Given the description of an element on the screen output the (x, y) to click on. 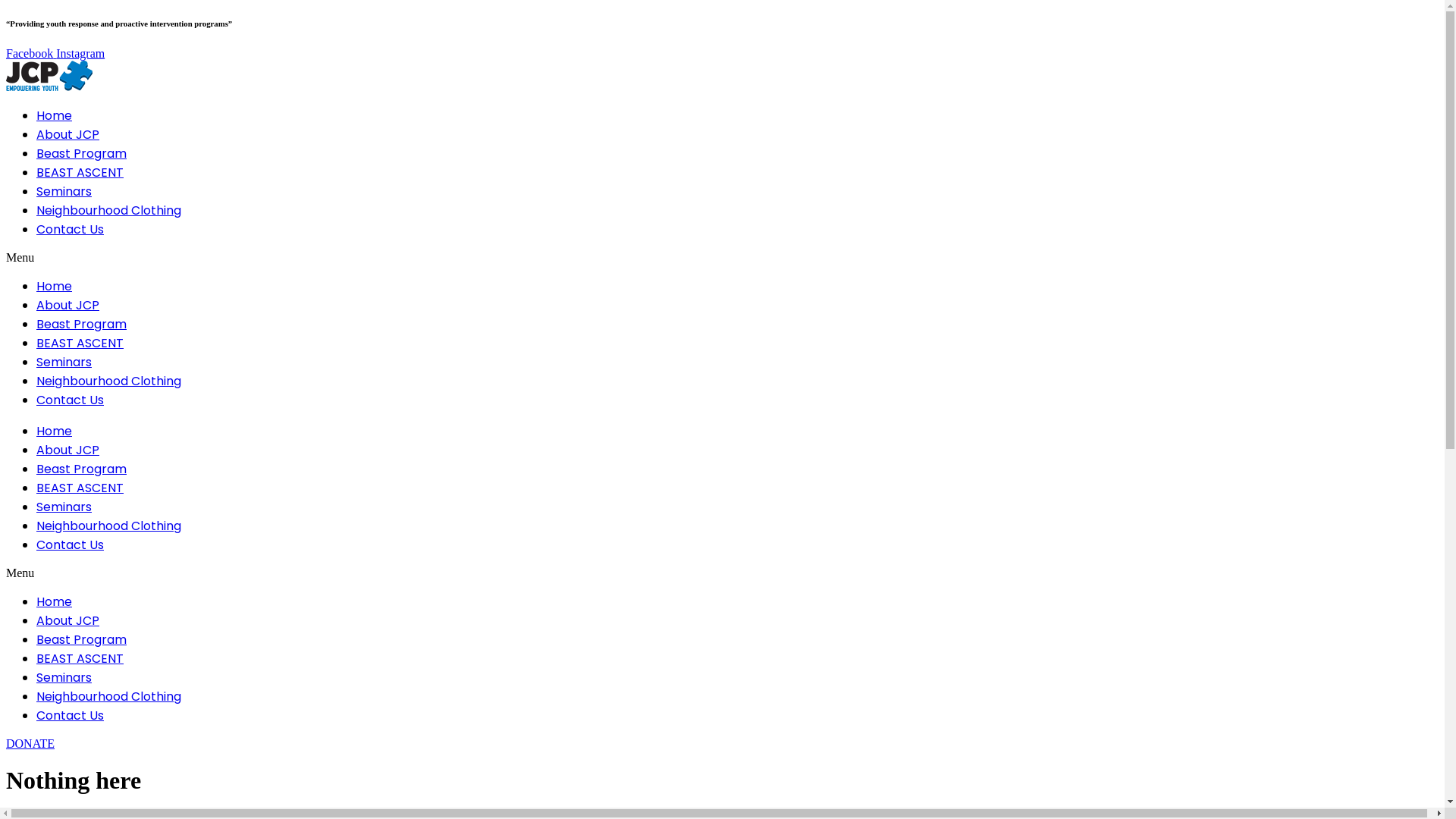
BEAST ASCENT Element type: text (79, 658)
About JCP Element type: text (67, 620)
Neighbourhood Clothing Element type: text (108, 525)
Seminars Element type: text (63, 361)
Home Element type: text (54, 285)
Contact Us Element type: text (69, 399)
Beast Program Element type: text (81, 468)
Contact Us Element type: text (69, 229)
Home Element type: text (54, 430)
Home Element type: text (54, 601)
Beast Program Element type: text (81, 323)
About JCP Element type: text (67, 304)
Neighbourhood Clothing Element type: text (108, 696)
Seminars Element type: text (63, 191)
Contact Us Element type: text (69, 715)
About JCP Element type: text (67, 134)
Neighbourhood Clothing Element type: text (108, 210)
DONATE Element type: text (30, 743)
Home Element type: text (54, 115)
Contact Us Element type: text (69, 544)
Facebook Element type: text (31, 53)
Beast Program Element type: text (81, 153)
About JCP Element type: text (67, 449)
BEAST ASCENT Element type: text (79, 487)
BEAST ASCENT Element type: text (79, 172)
Neighbourhood Clothing Element type: text (108, 380)
Seminars Element type: text (63, 506)
Beast Program Element type: text (81, 639)
Instagram Element type: text (80, 53)
Seminars Element type: text (63, 677)
BEAST ASCENT Element type: text (79, 342)
